Given the description of an element on the screen output the (x, y) to click on. 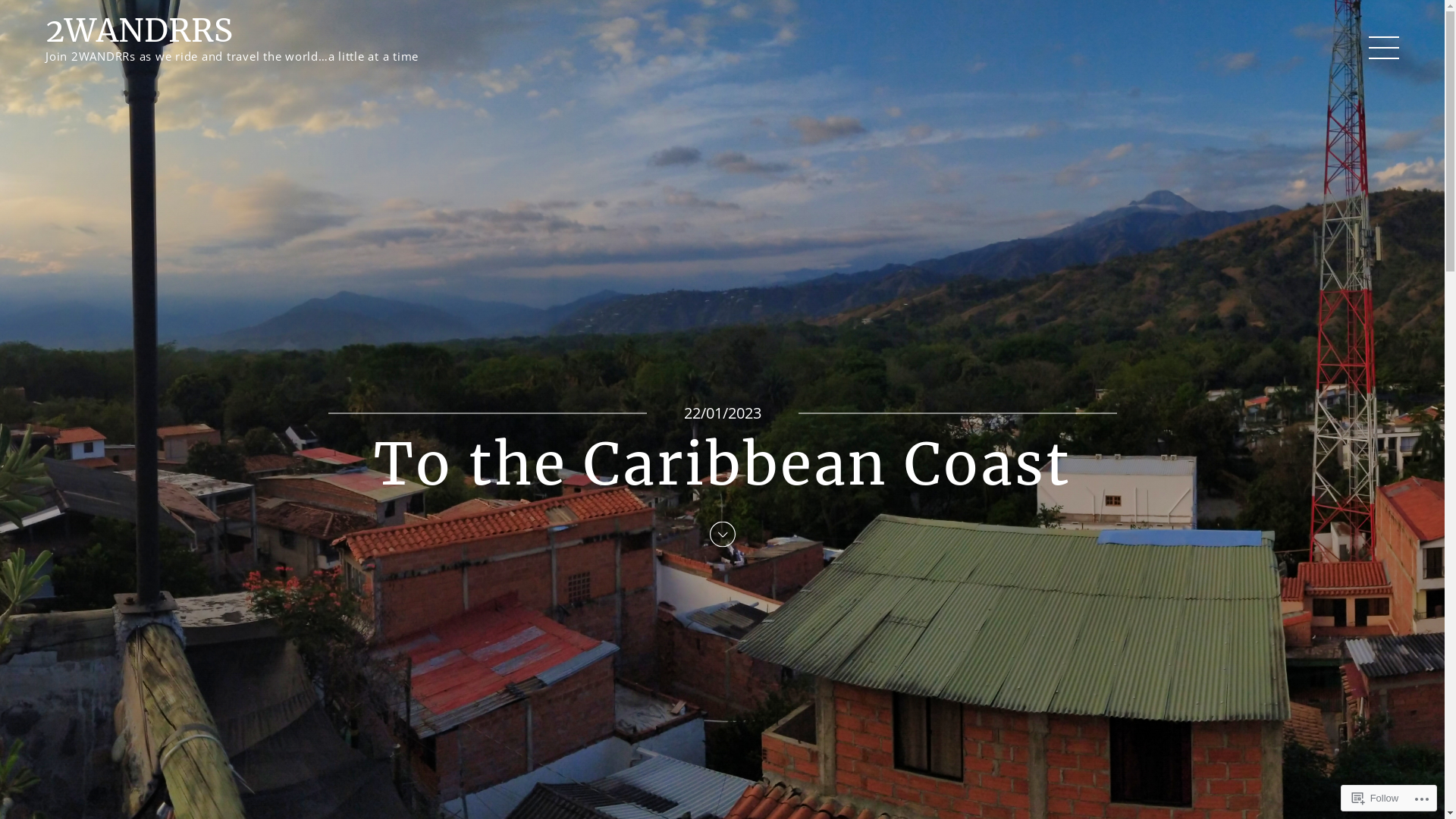
To the Caribbean Coast Element type: text (721, 463)
2WANDRRS Element type: text (138, 30)
Follow Element type: text (1375, 797)
